Given the description of an element on the screen output the (x, y) to click on. 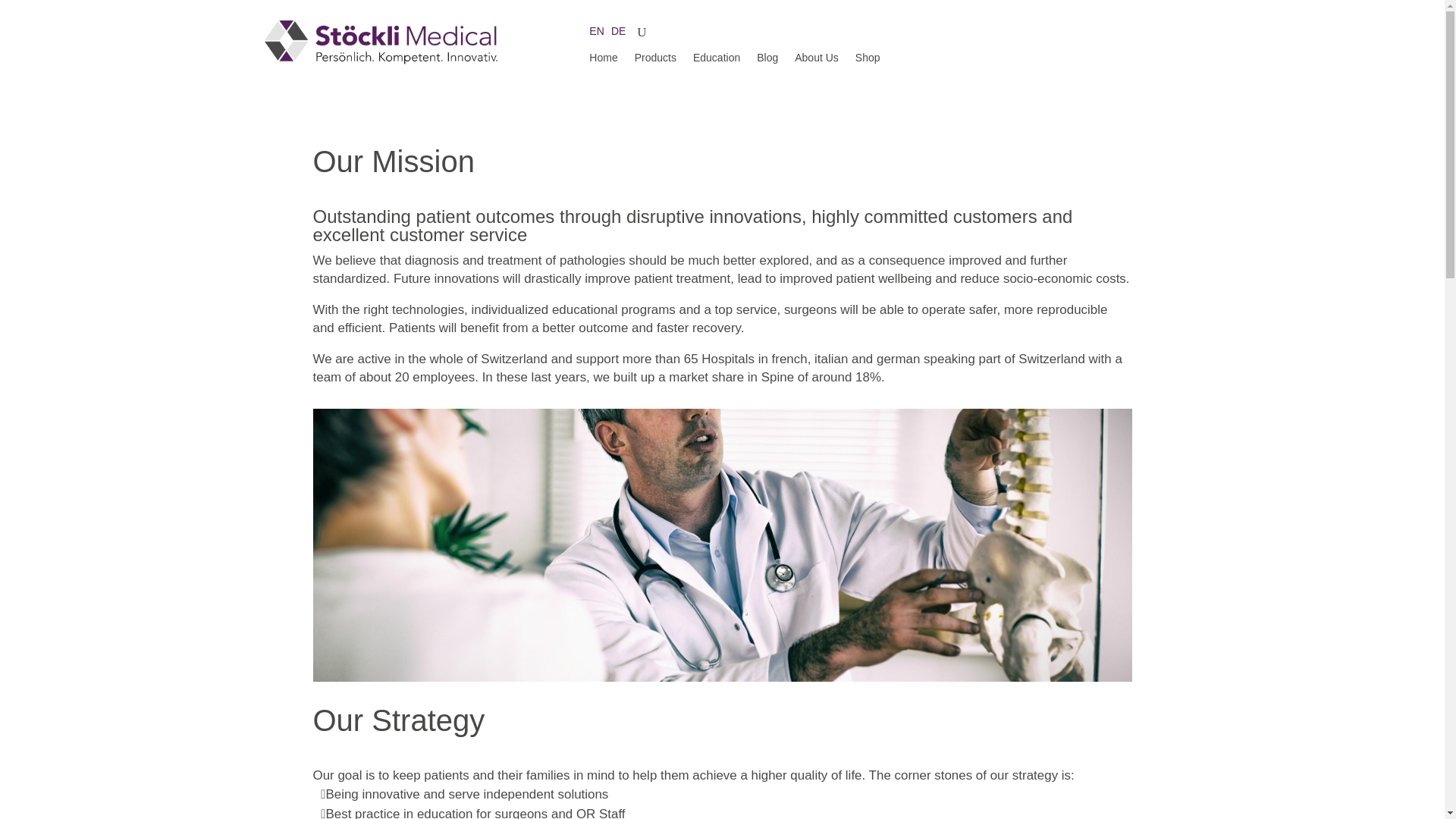
Stoeckli-Medical-AG-Logo-2-1 (379, 42)
